Given the description of an element on the screen output the (x, y) to click on. 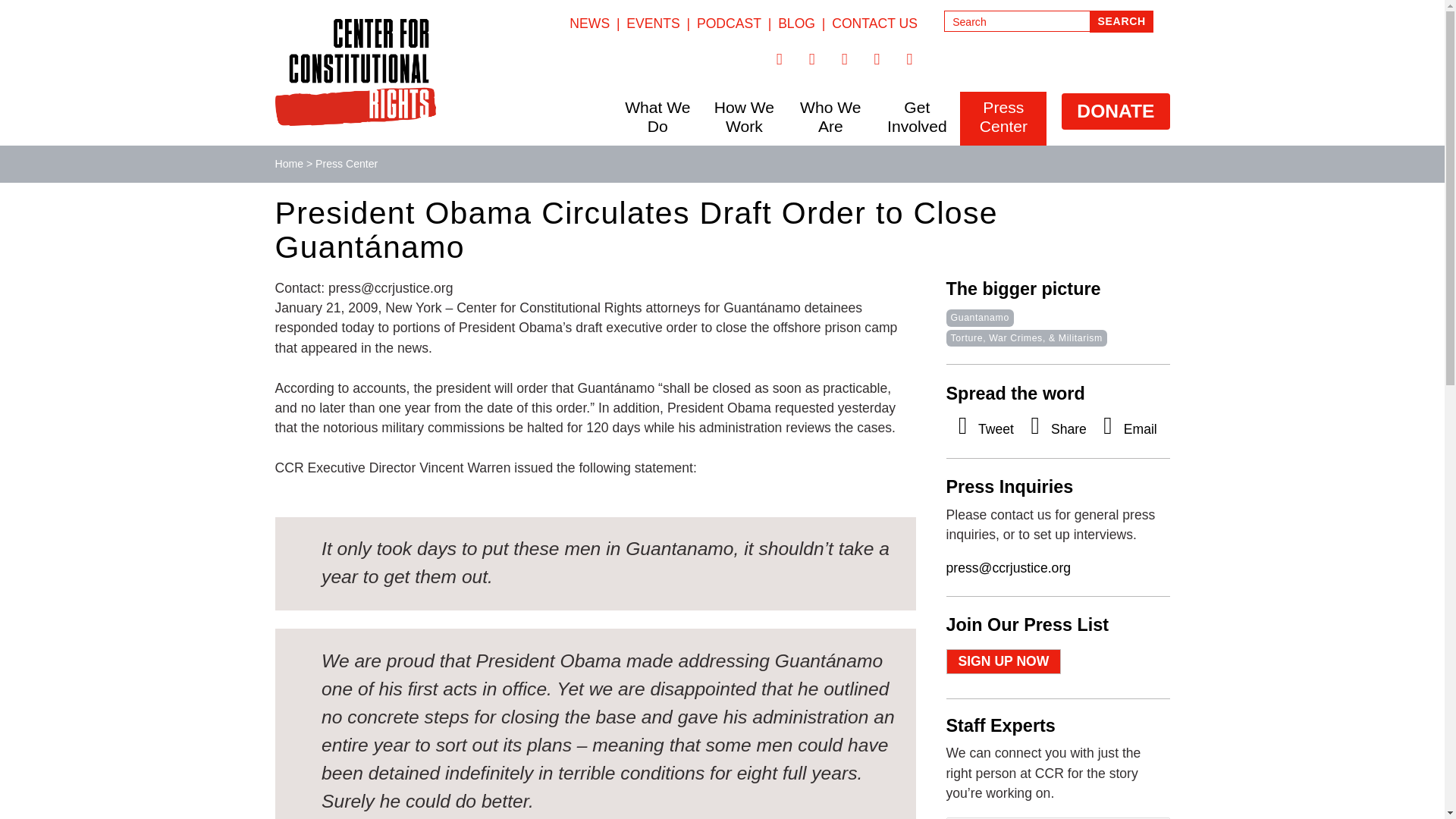
What We Do (657, 116)
Search (1121, 20)
BLOG (796, 23)
NEWS (589, 23)
DONATE (1115, 111)
EVENTS (652, 23)
PODCAST (729, 23)
CONTACT US (874, 23)
Search (1121, 20)
